Given the description of an element on the screen output the (x, y) to click on. 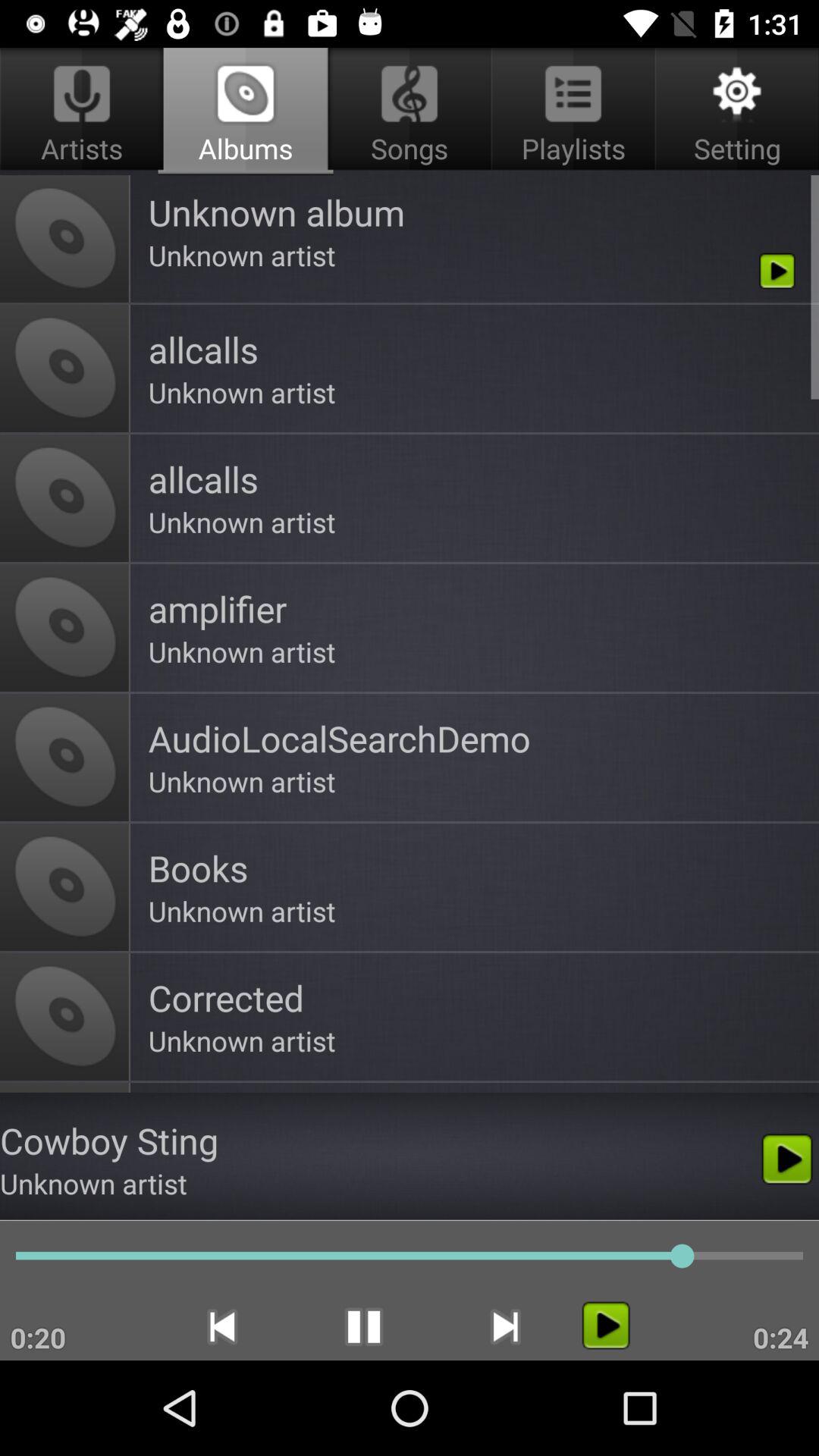
jump to artists app (84, 111)
